Given the description of an element on the screen output the (x, y) to click on. 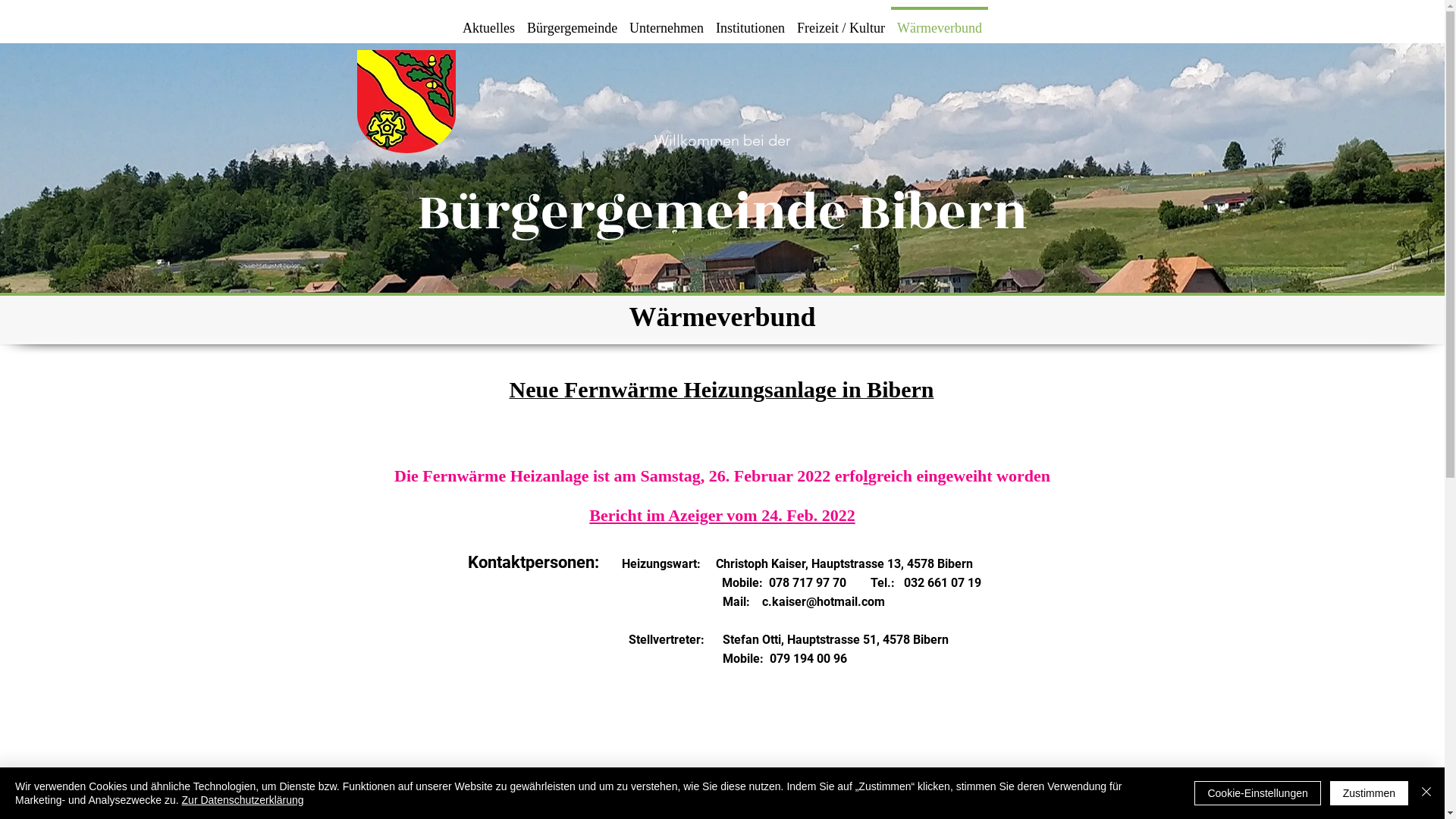
Institutionen Element type: text (749, 20)
Zustimmen Element type: text (1369, 793)
l Element type: text (865, 475)
Freizeit / Kultur Element type: text (840, 20)
Cookie-Einstellungen Element type: text (1257, 793)
Unternehmen Element type: text (666, 20)
Bericht im Azeiger vom 24. Feb. 2022 Element type: text (721, 514)
Aktuelles Element type: text (488, 20)
